Given the description of an element on the screen output the (x, y) to click on. 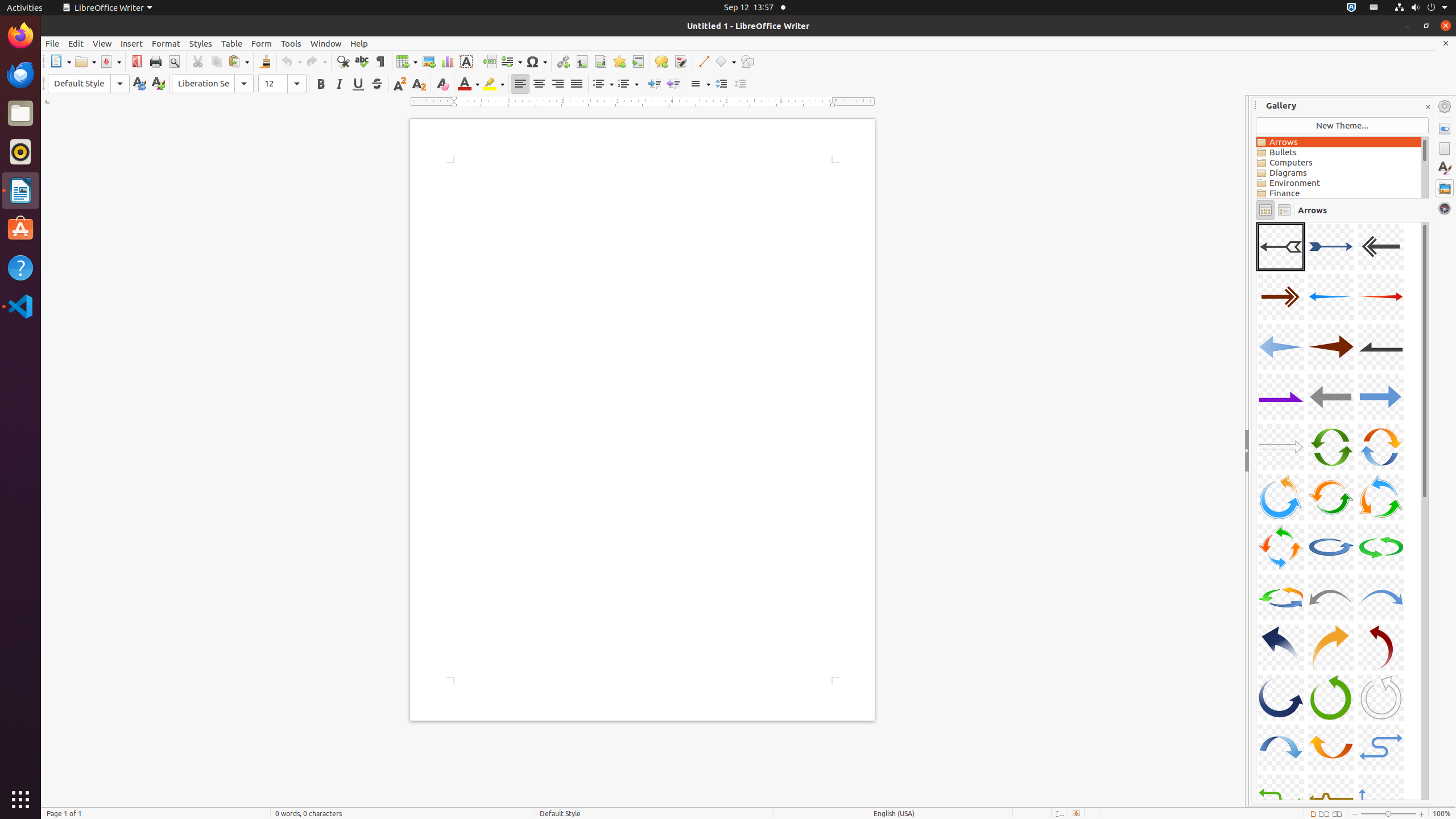
:1.21/StatusNotifierItem Element type: menu (1373, 7)
Bold Element type: toggle-button (320, 83)
LibreOffice Writer Element type: push-button (20, 190)
A11-Arrow-Gray-Left Element type: list-item (1330, 396)
A17-CircleArrow Element type: list-item (1330, 496)
